Given the description of an element on the screen output the (x, y) to click on. 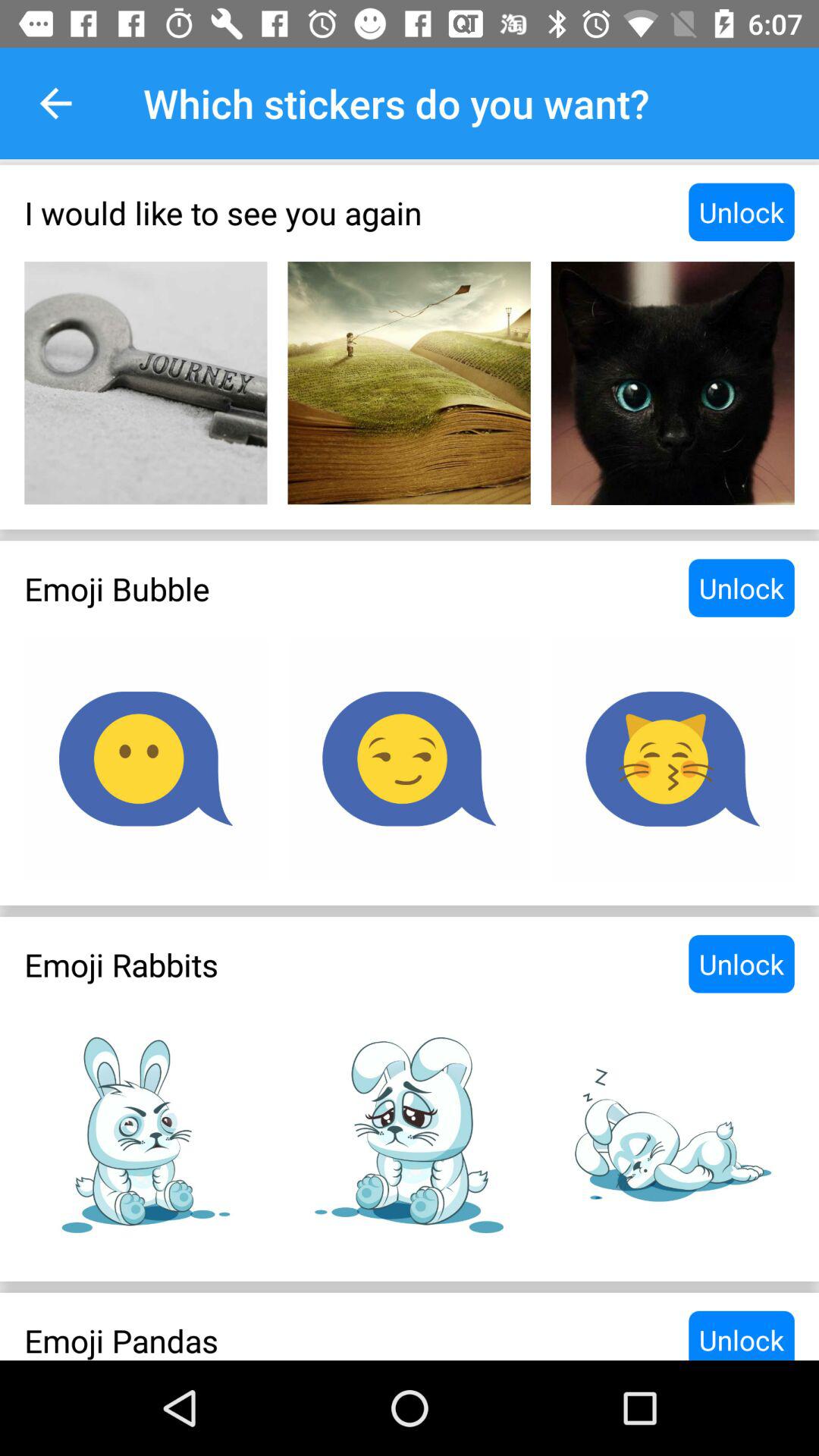
turn off the item next to the which stickers do item (55, 103)
